Given the description of an element on the screen output the (x, y) to click on. 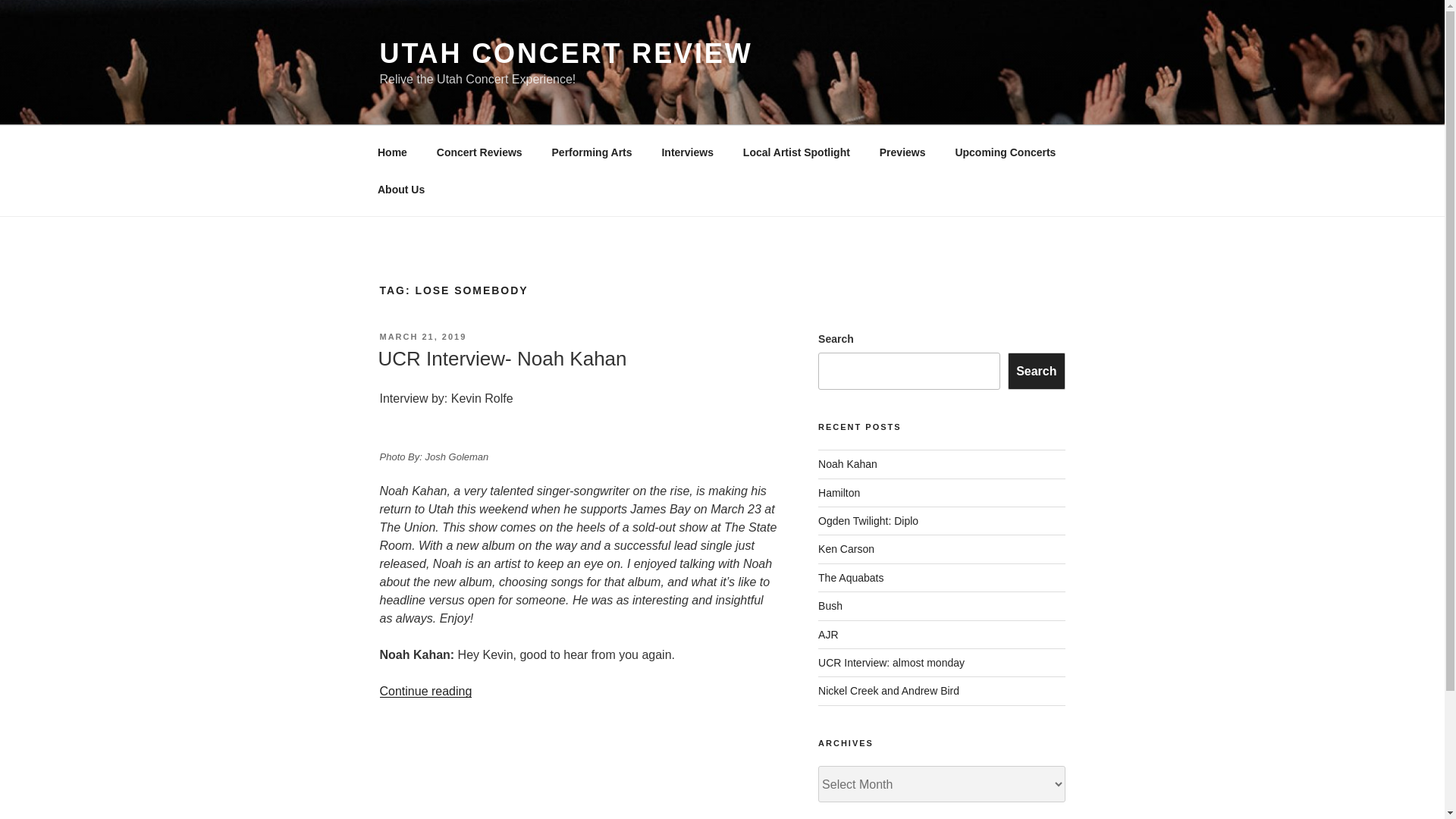
Upcoming Concerts (1005, 151)
UTAH CONCERT REVIEW (565, 52)
Previews (902, 151)
Hamilton (839, 492)
Nickel Creek and Andrew Bird (888, 690)
Home (392, 151)
The Aquabats (850, 577)
Search (1035, 370)
About Us (401, 189)
Bush (830, 605)
